Given the description of an element on the screen output the (x, y) to click on. 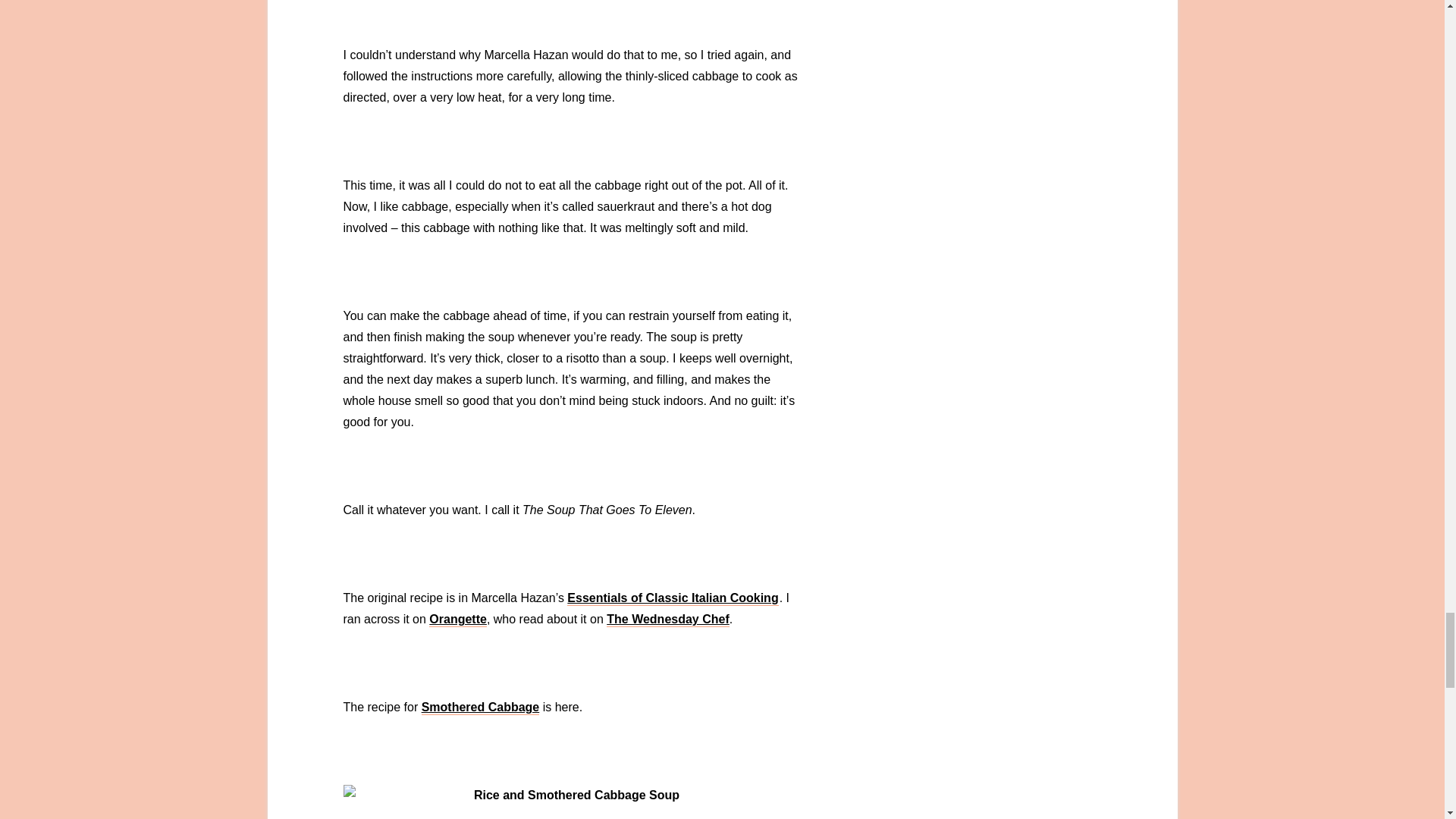
Essentials of Classic Italian Cooking (672, 598)
Orangette (457, 619)
